Given the description of an element on the screen output the (x, y) to click on. 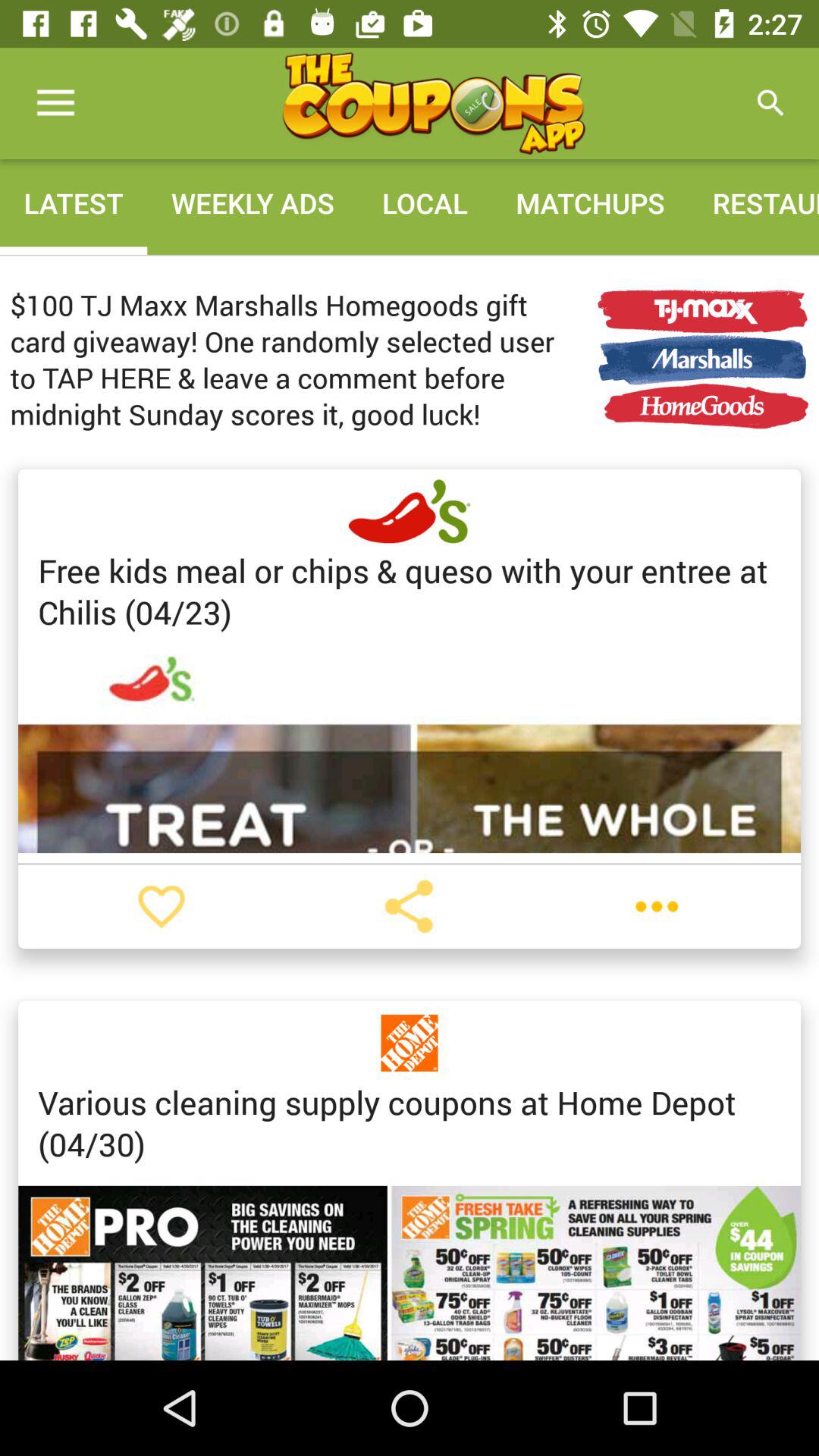
share this coupon (408, 906)
